Given the description of an element on the screen output the (x, y) to click on. 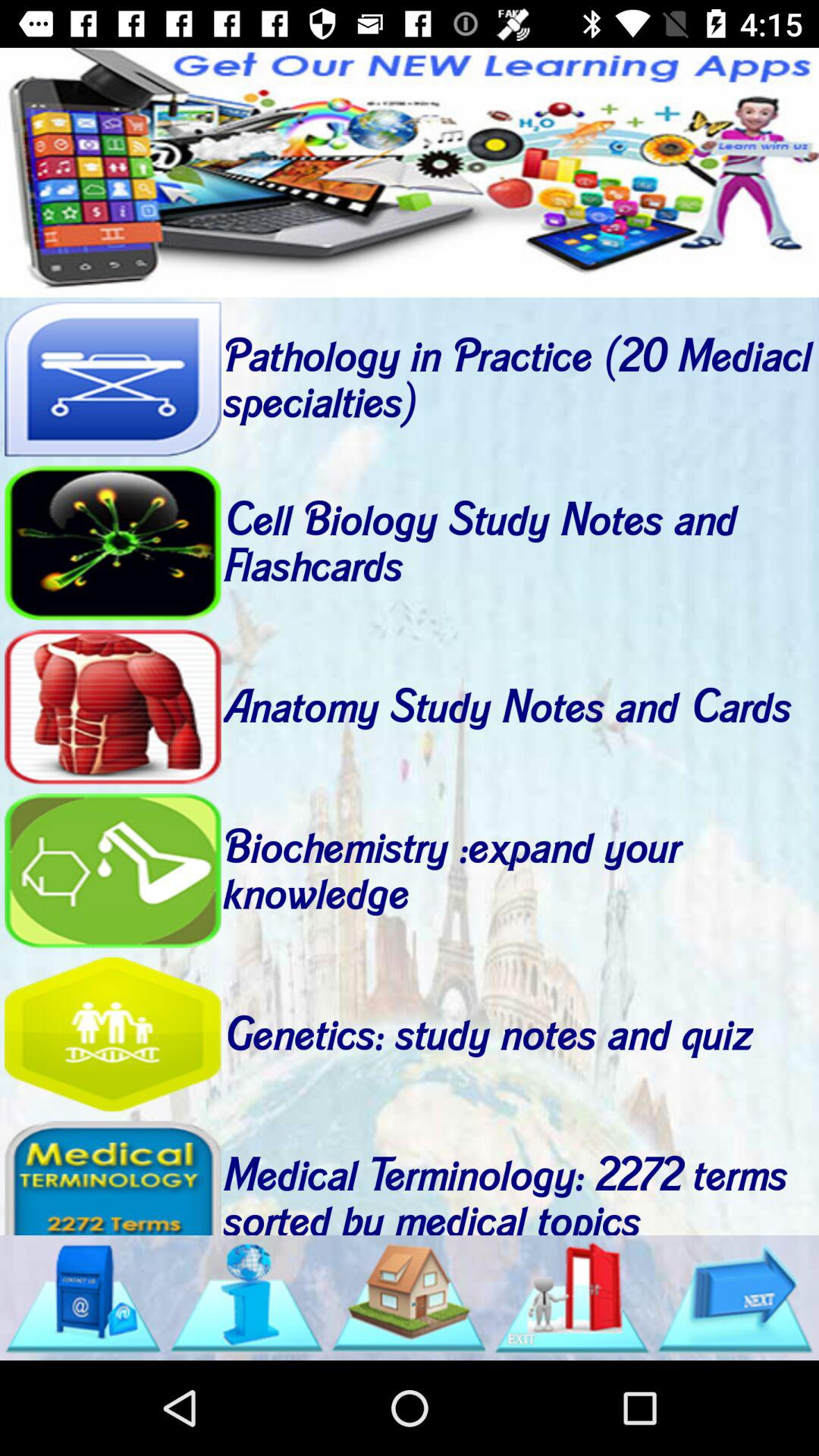
go to home (408, 1297)
